Given the description of an element on the screen output the (x, y) to click on. 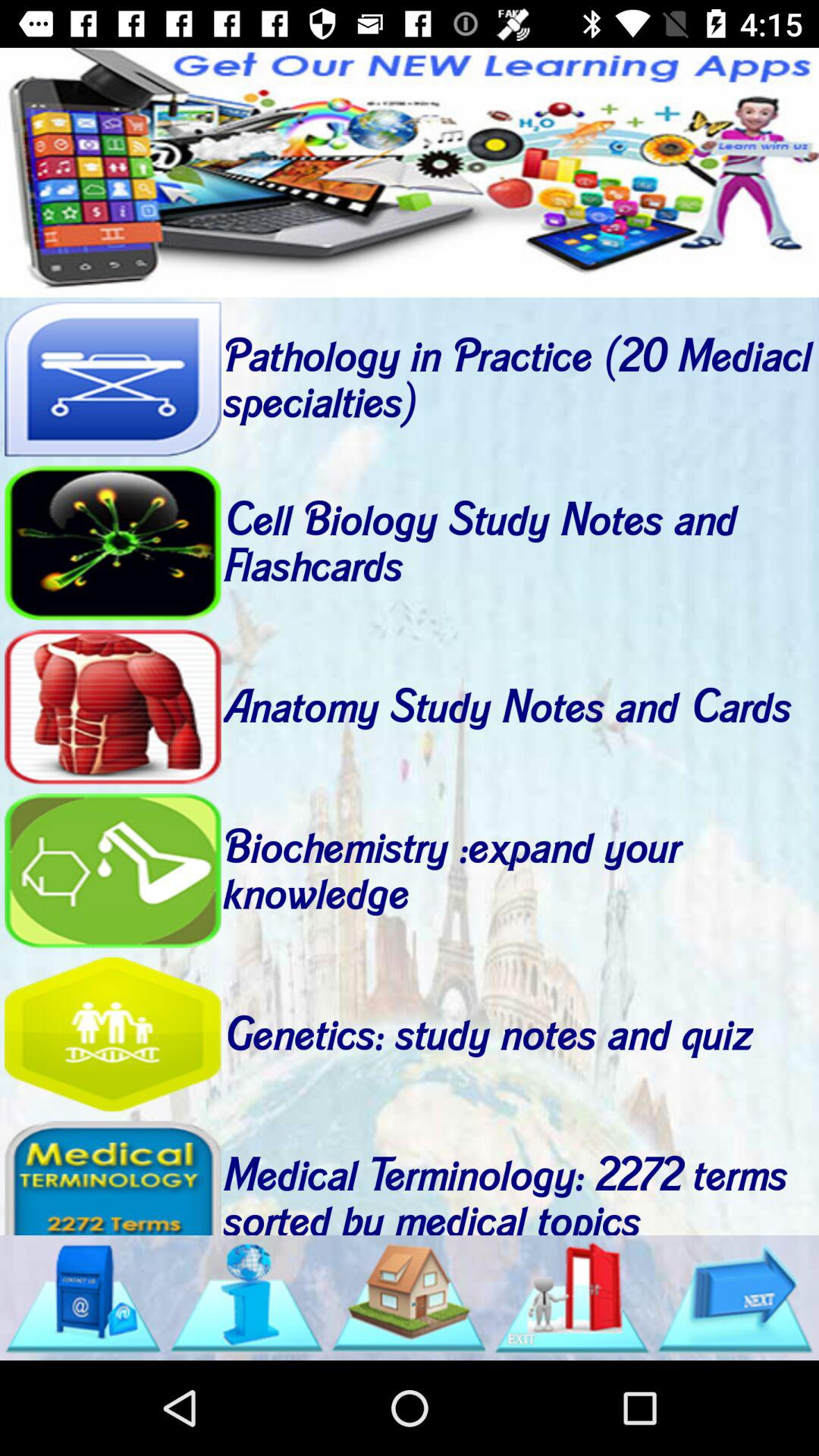
go to home (408, 1297)
